Given the description of an element on the screen output the (x, y) to click on. 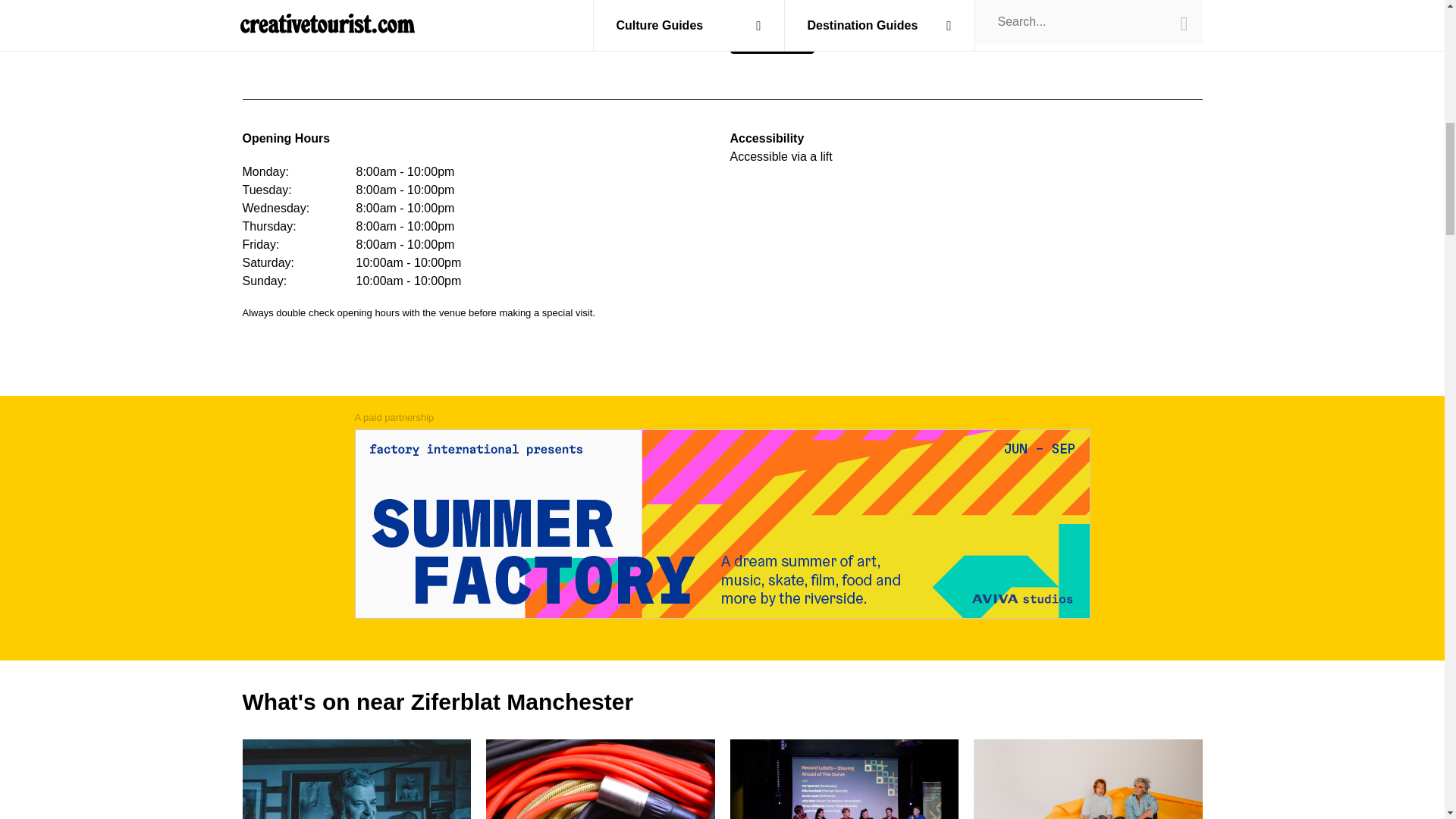
19 Aug (1088, 778)
Visit Now (771, 40)
Twitter (357, 778)
21 Nov (812, 6)
Facebook (843, 778)
